Given the description of an element on the screen output the (x, y) to click on. 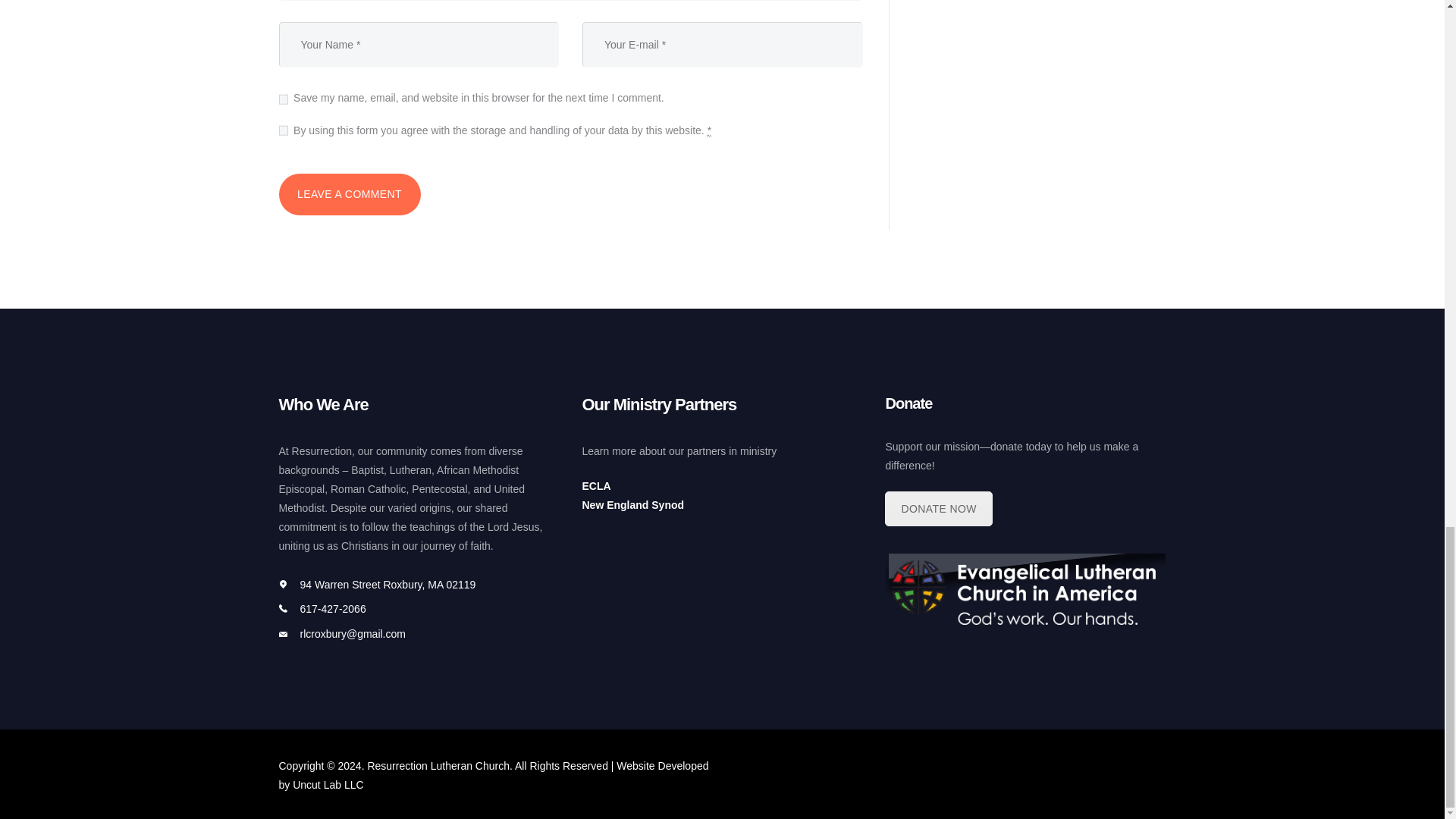
DONATE NOW (938, 508)
ECLA (595, 485)
617-427-2066 (332, 608)
Leave a comment (349, 194)
Leave a comment (349, 194)
New England Synod (632, 504)
